Given the description of an element on the screen output the (x, y) to click on. 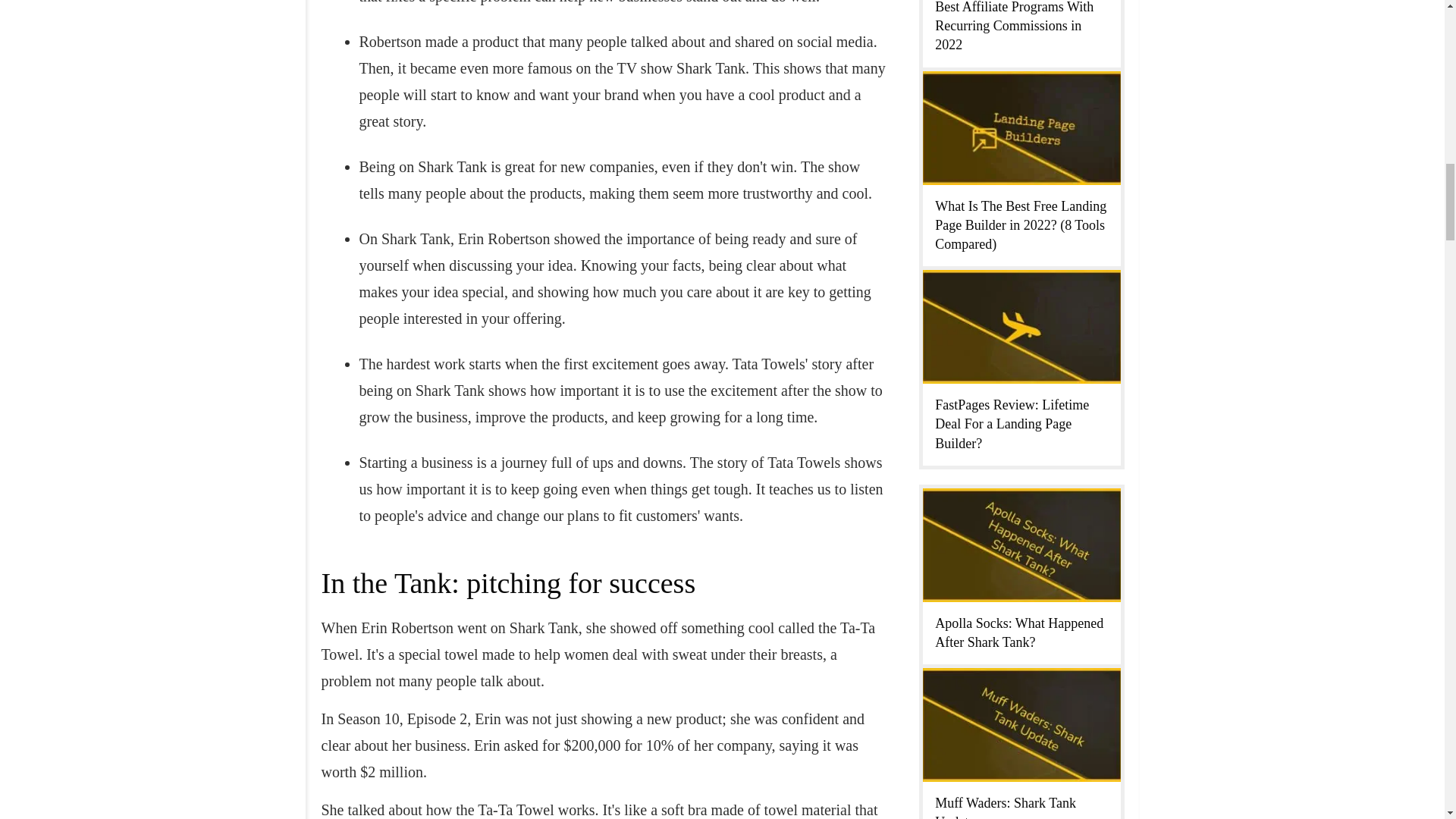
Apolla Socks: What Happened After Shark Tank? (1018, 632)
Muff Waders: Shark Tank Update (1004, 807)
FastPages Review: Lifetime Deal For a Landing Page Builder? (1011, 423)
Best Affiliate Programs With Recurring Commissions in 2022 (1013, 26)
